Given the description of an element on the screen output the (x, y) to click on. 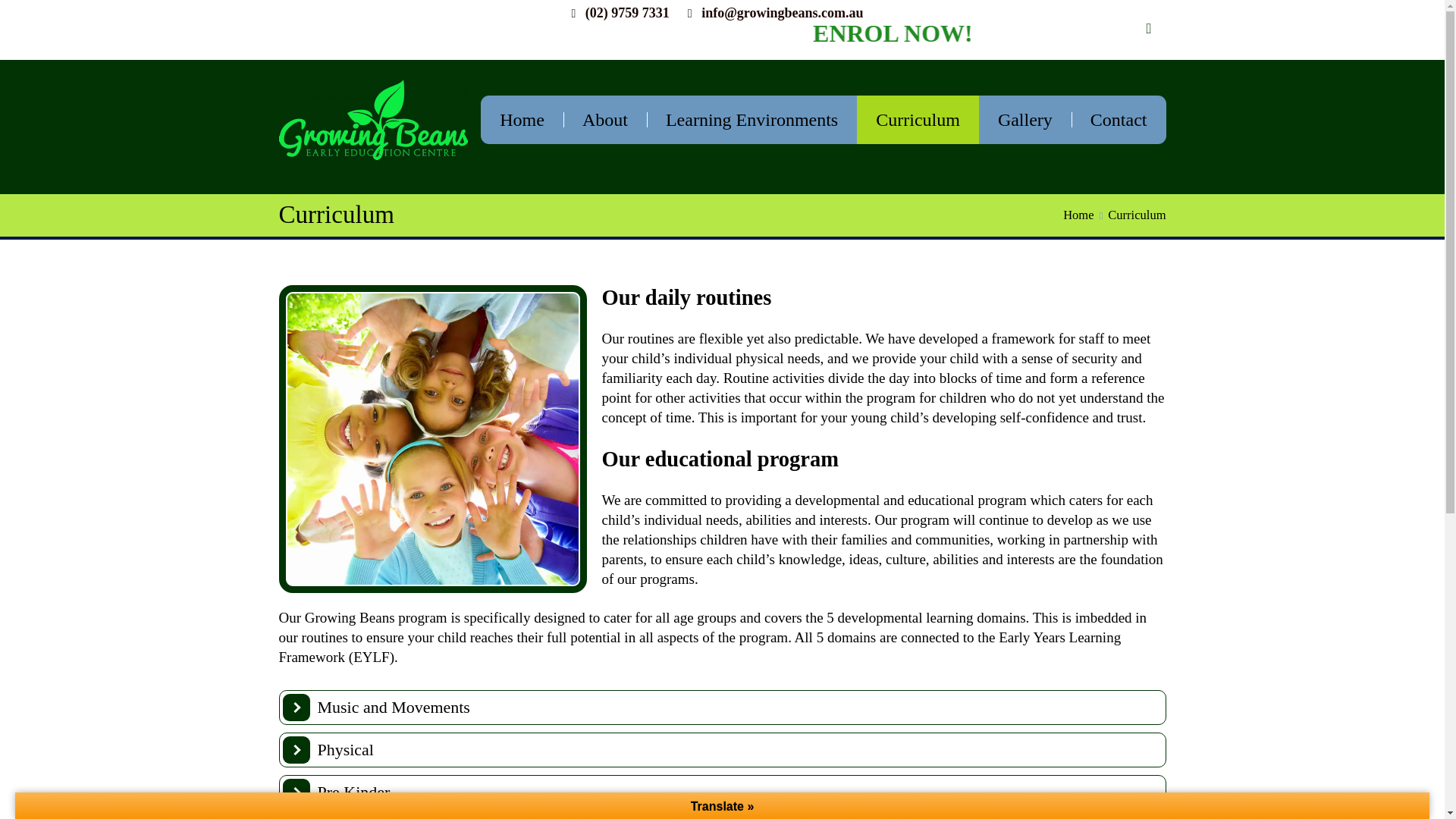
Home (1077, 215)
Curriculum (917, 119)
Search (25, 13)
About (604, 119)
ENROL NOW! (1056, 35)
Home (521, 119)
Learning Environments (751, 119)
Contact (1118, 119)
Gallery (1024, 119)
